Given the description of an element on the screen output the (x, y) to click on. 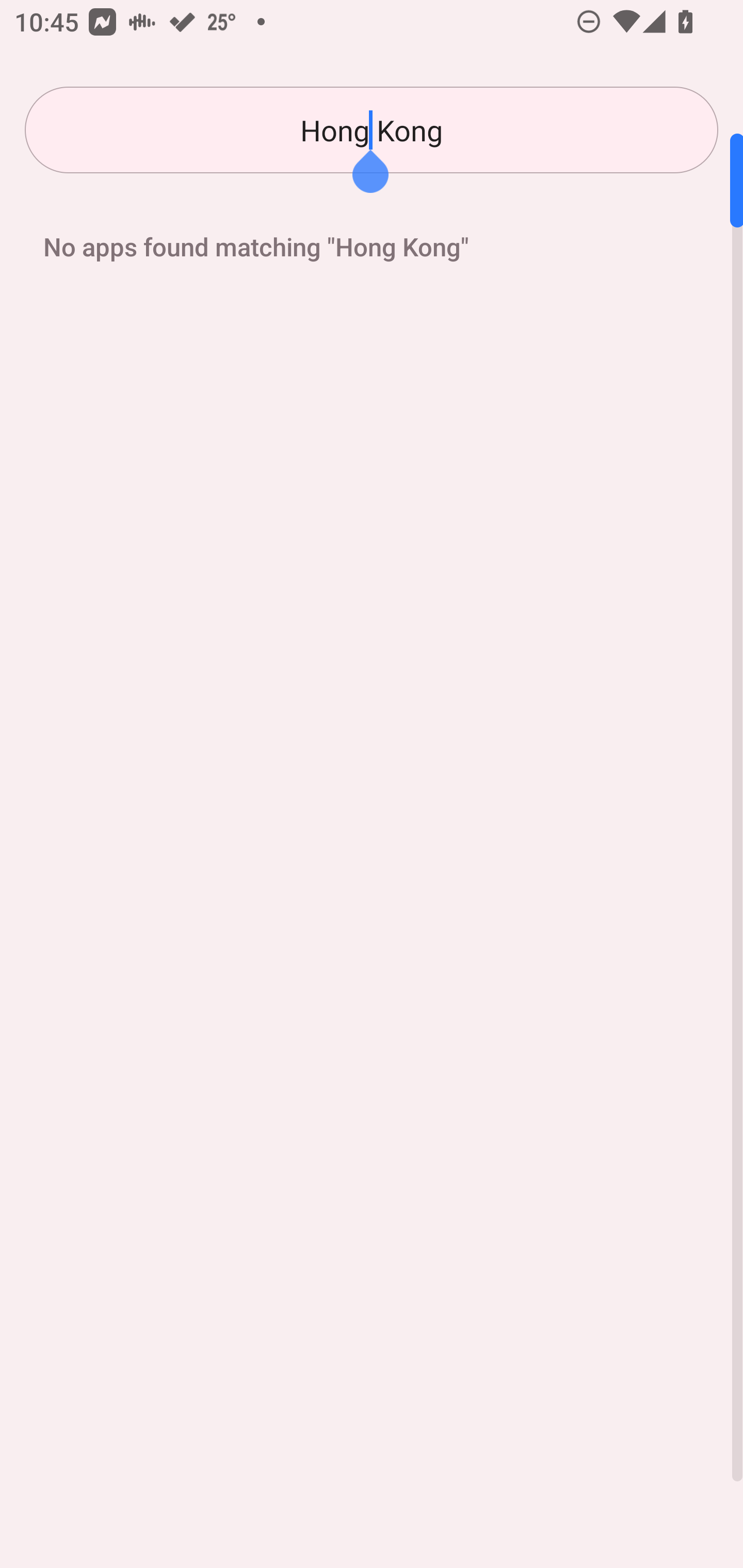
Hong Kong (371, 130)
